Given the description of an element on the screen output the (x, y) to click on. 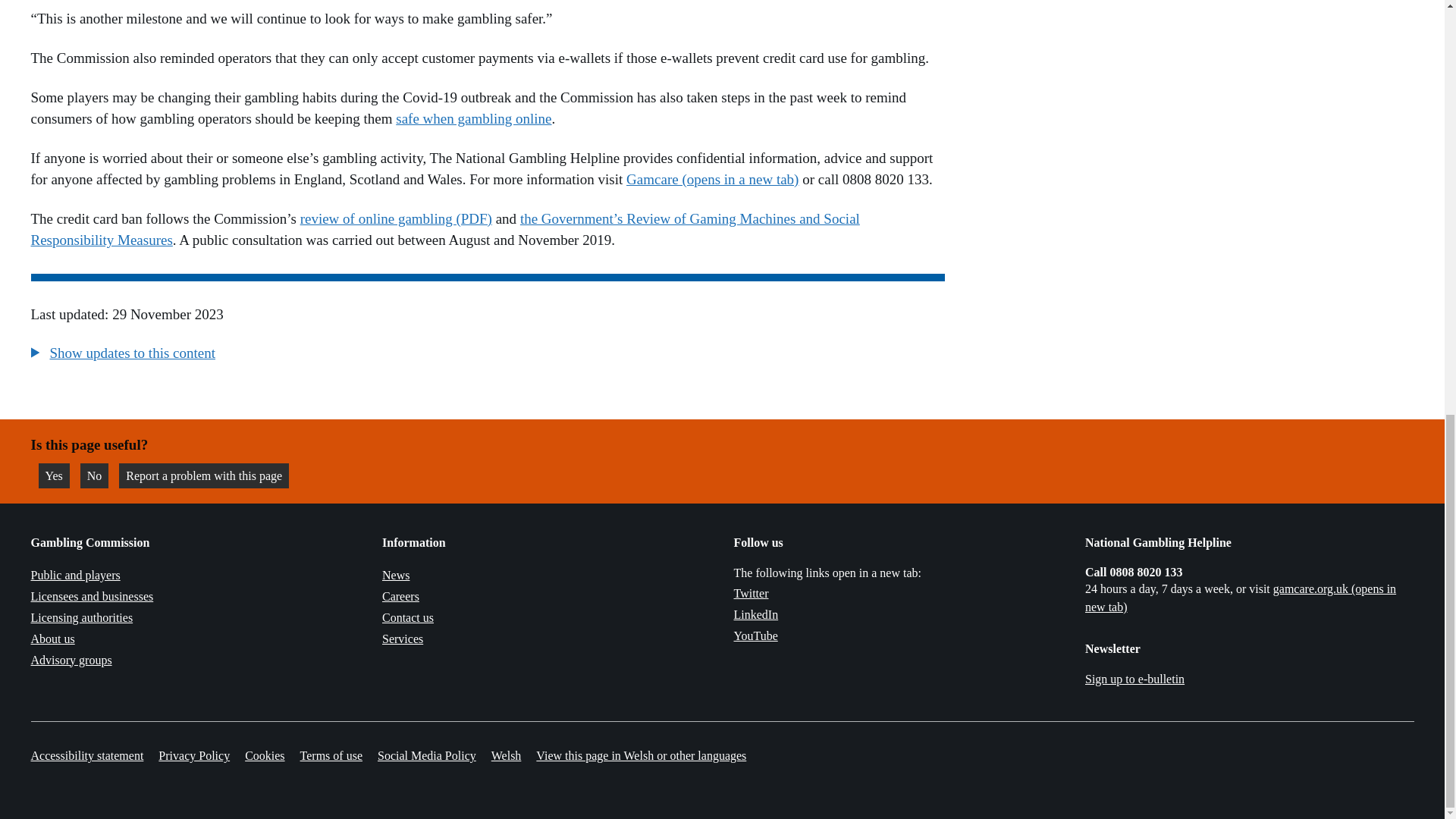
Link opens in a new tab (755, 635)
Link opens in a new tab (755, 614)
Link opens in a new tab (1240, 597)
Link opens in a new tab (750, 593)
safe when gambling online (473, 118)
